Given the description of an element on the screen output the (x, y) to click on. 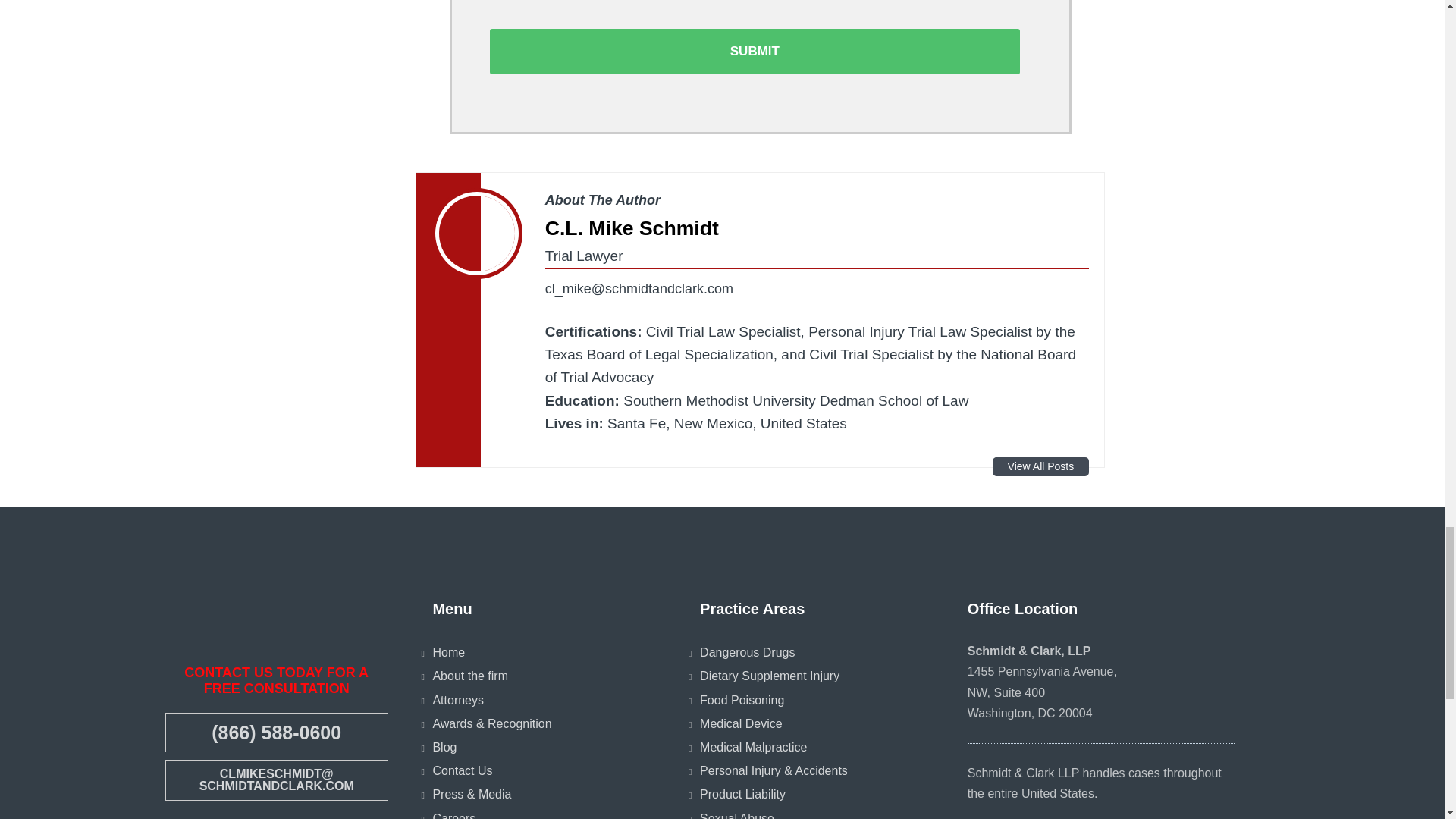
Submit (754, 51)
